Given the description of an element on the screen output the (x, y) to click on. 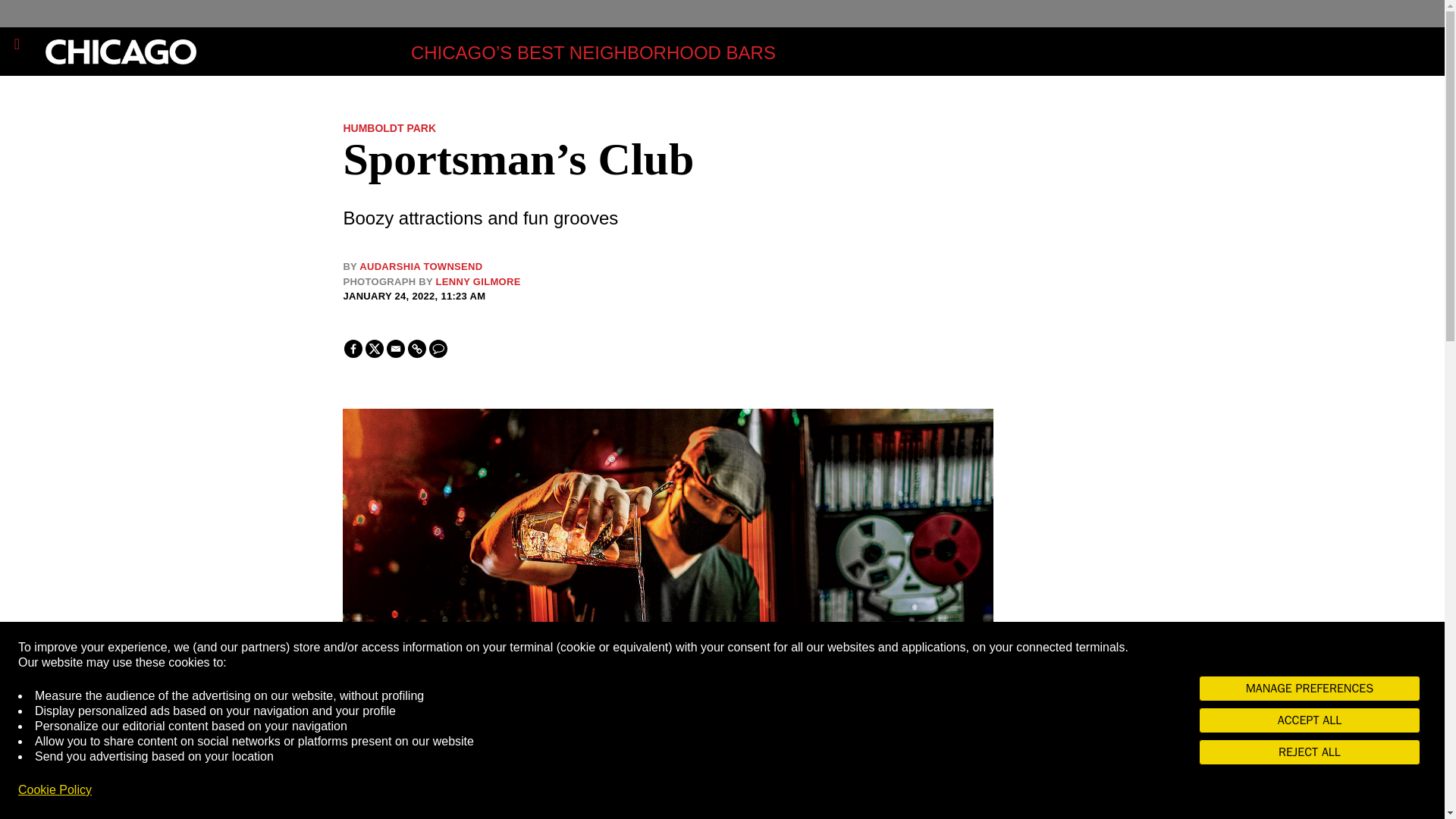
ACCEPT ALL (1309, 720)
X (374, 348)
Email (395, 348)
Copy Link (416, 348)
Facebook (352, 348)
Cookie Policy (54, 789)
comment (437, 348)
REJECT ALL (1309, 751)
MANAGE PREFERENCES (1309, 688)
